Given the description of an element on the screen output the (x, y) to click on. 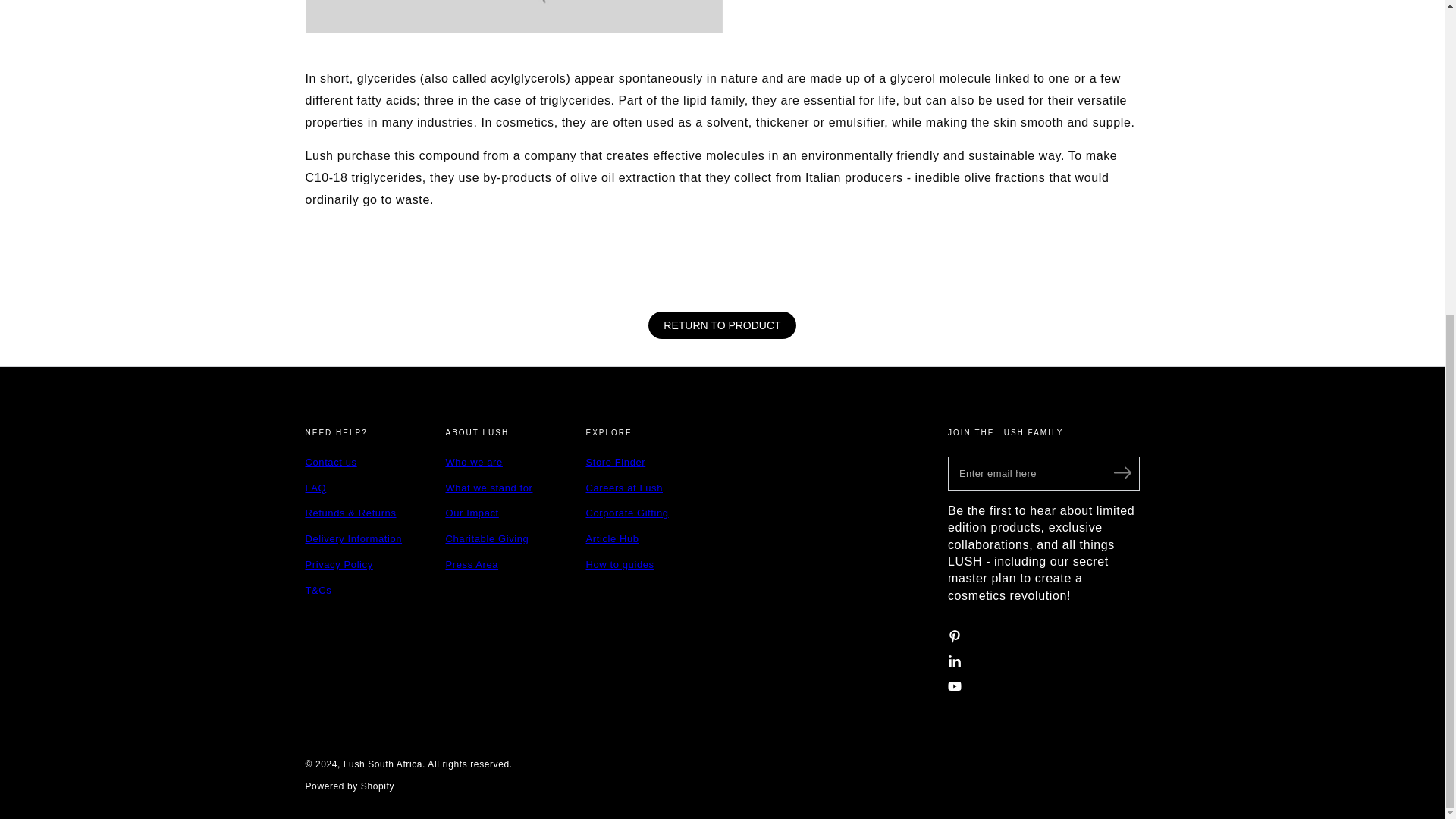
Contact (330, 461)
Terms and Conditions (317, 590)
Privacy Policy (338, 564)
Corporate Gifting (626, 512)
Delivery Information (352, 538)
Find a store (615, 461)
FAQ (315, 487)
